Given the description of an element on the screen output the (x, y) to click on. 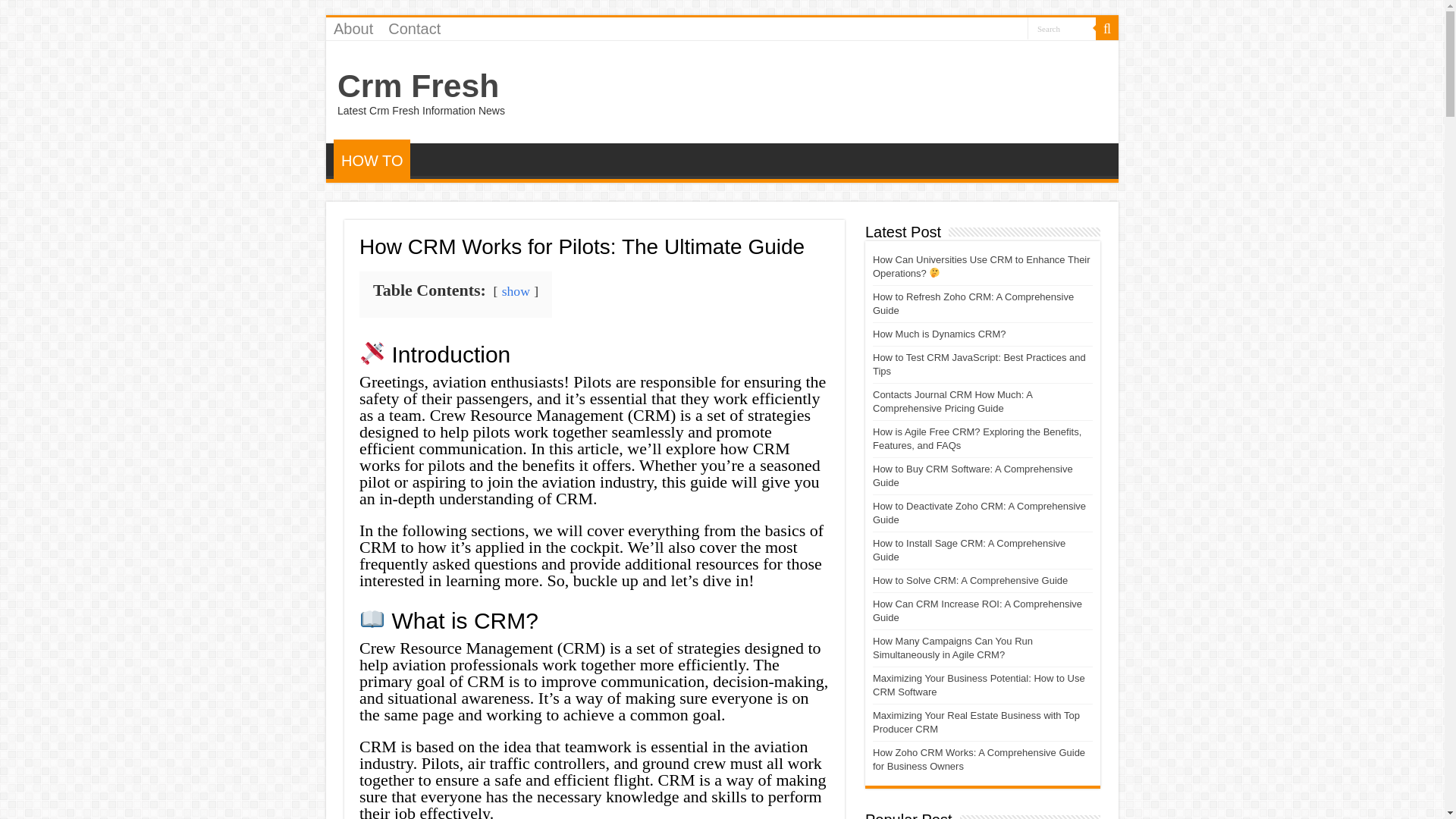
Contact (414, 28)
Search (1061, 28)
Search (1061, 28)
HOW TO (371, 159)
Crm Fresh (418, 85)
Search (1107, 28)
About (353, 28)
Search (1061, 28)
show (515, 290)
